Given the description of an element on the screen output the (x, y) to click on. 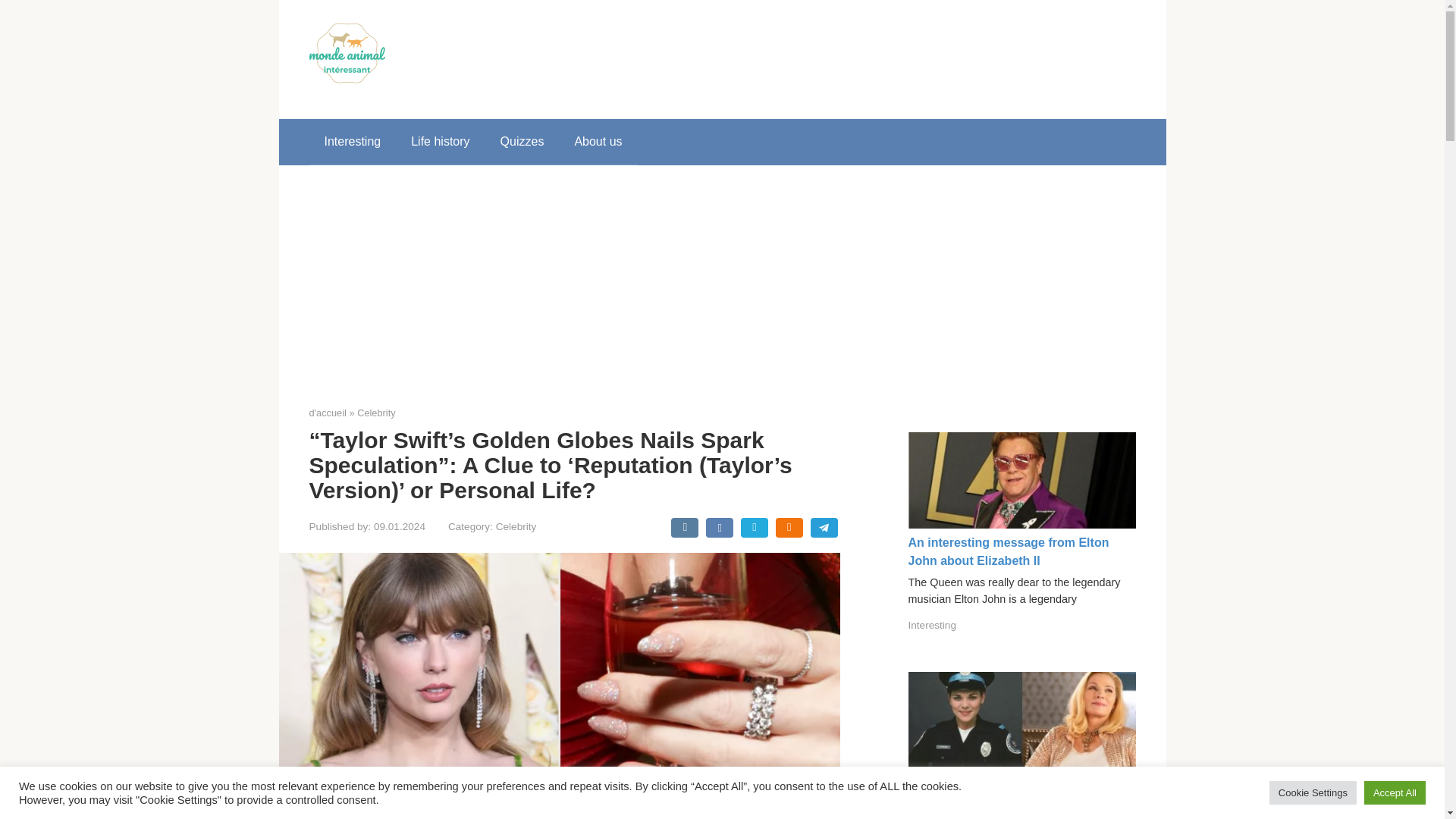
About us (598, 141)
Interesting (932, 624)
Quizzes (521, 141)
Life history (440, 141)
An interesting message from Elton John about Elizabeth II (1008, 551)
Celebrity (516, 526)
Cookie Settings (1312, 792)
Interesting (352, 141)
Celebrity (376, 412)
d'accueil (327, 412)
